Given the description of an element on the screen output the (x, y) to click on. 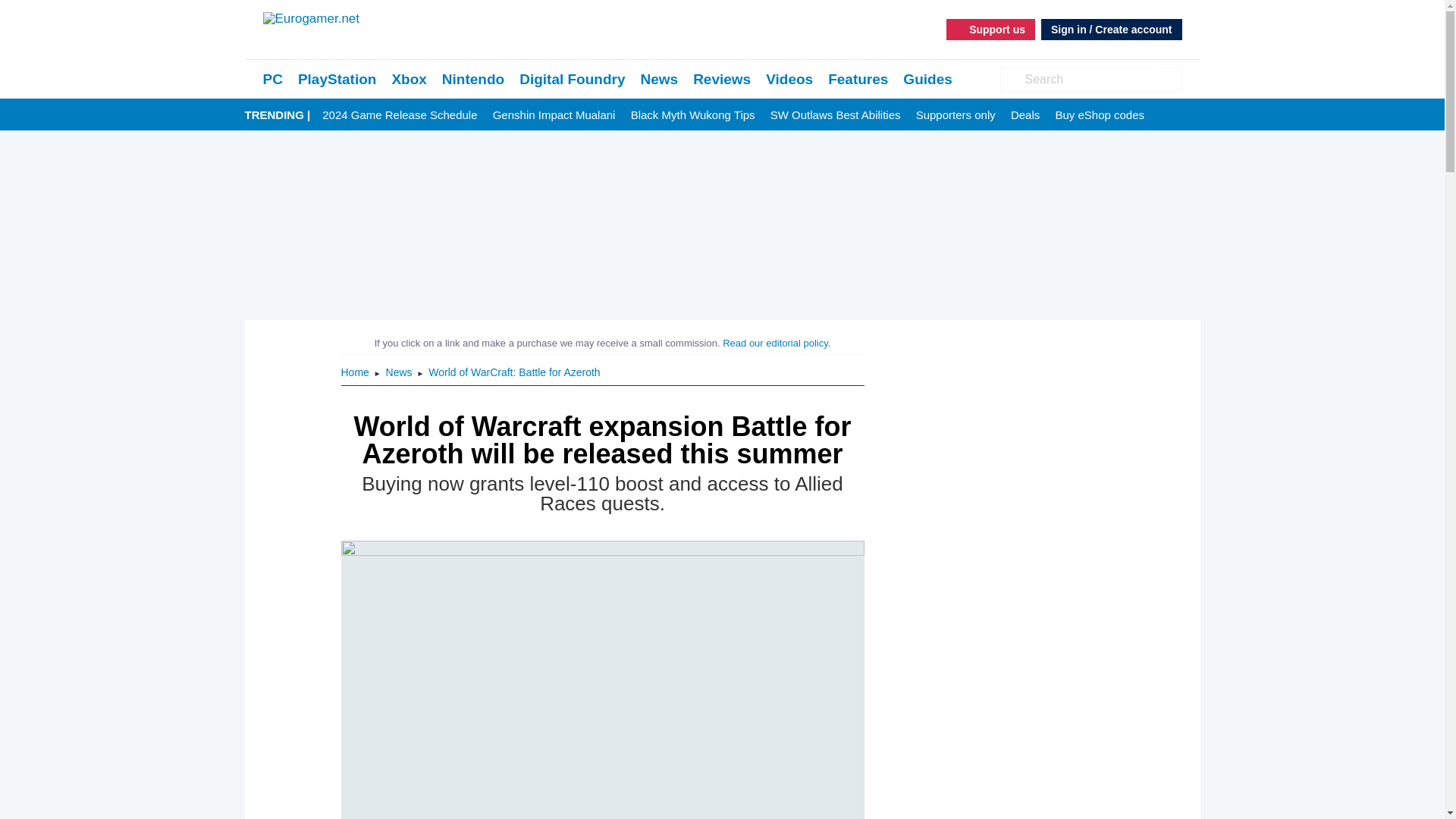
Supporters only (955, 114)
Guides (927, 78)
World of WarCraft: Battle for Azeroth (513, 372)
PlayStation (336, 78)
Black Myth Wukong Tips (692, 114)
2024 Game Release Schedule (399, 114)
Read our editorial policy (775, 342)
Genshin Impact Mualani (554, 114)
Buy eShop codes (1099, 114)
Digital Foundry (571, 78)
